Given the description of an element on the screen output the (x, y) to click on. 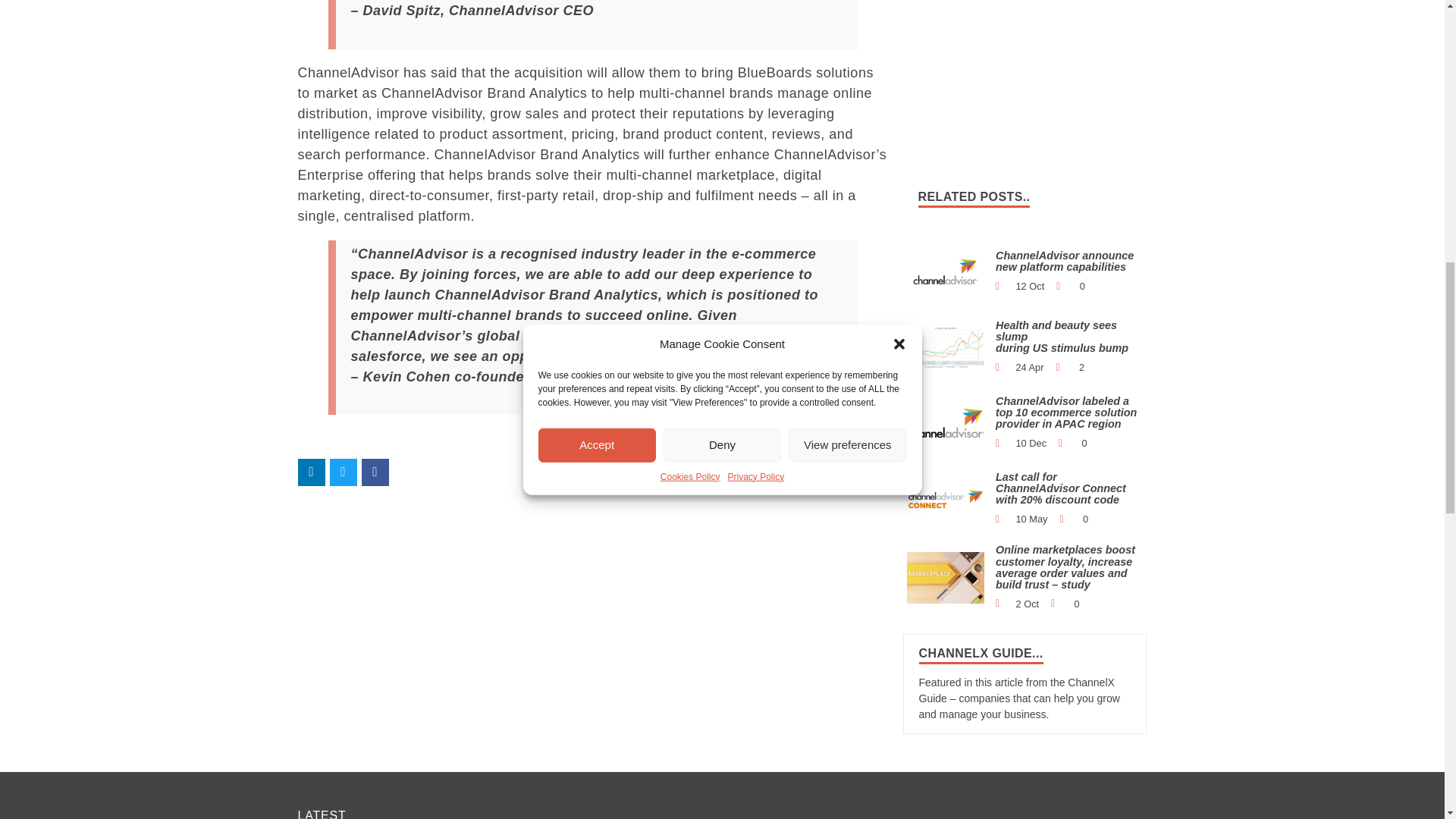
Untitled-1-01 (946, 422)
ChannelAdvisor-01-scaled (946, 347)
CA-01-scaled (946, 271)
Marketplace (946, 577)
ChannelAdvisor-Connect-2019-logo (946, 498)
